Given the description of an element on the screen output the (x, y) to click on. 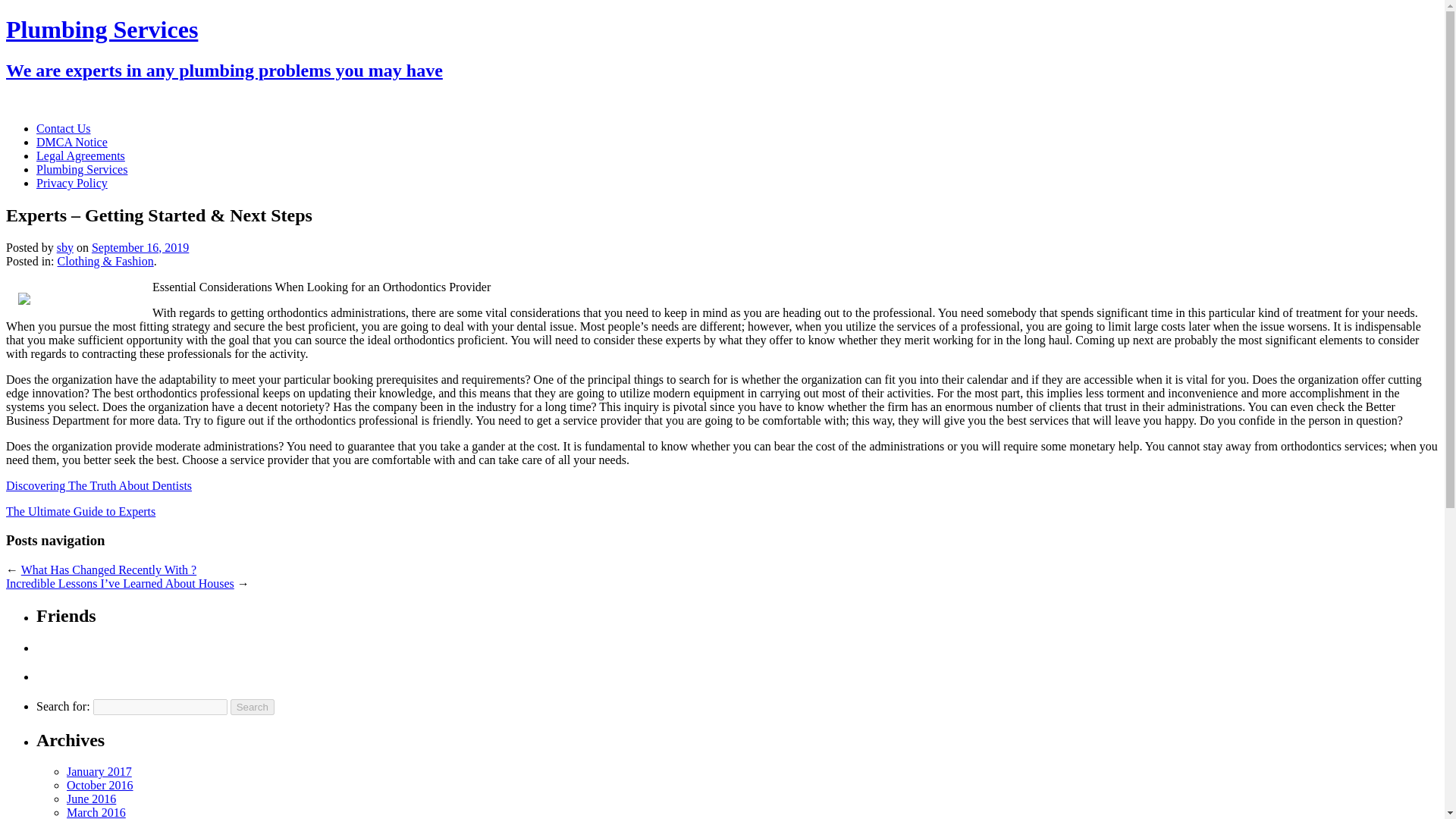
September 16, 2019 (140, 246)
Legal Agreements (80, 155)
January 2017 (99, 771)
View all posts by sby (65, 246)
sby (65, 246)
Plumbing Services (82, 169)
Contact Us (63, 128)
Discovering The Truth About Dentists (98, 485)
The Ultimate Guide to Experts (80, 511)
We are experts in any plumbing problems you may have (223, 70)
